Given the description of an element on the screen output the (x, y) to click on. 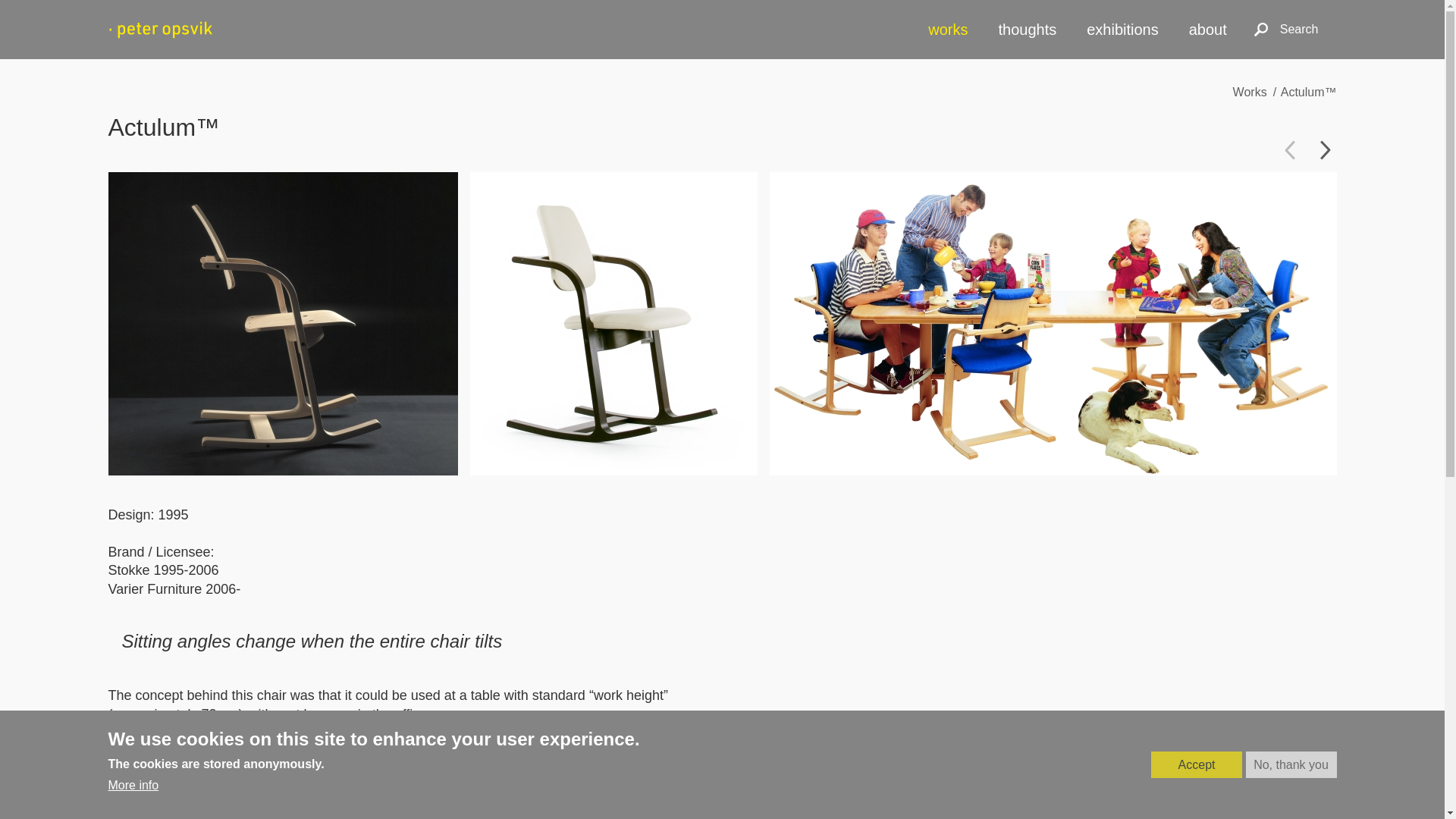
Go (1229, 29)
Previous (1289, 149)
Search (1286, 29)
Works (1249, 91)
Actulum Foto Varier Furniture 01 (613, 323)
works (947, 29)
Accept (1196, 764)
More info (132, 785)
